Given the description of an element on the screen output the (x, y) to click on. 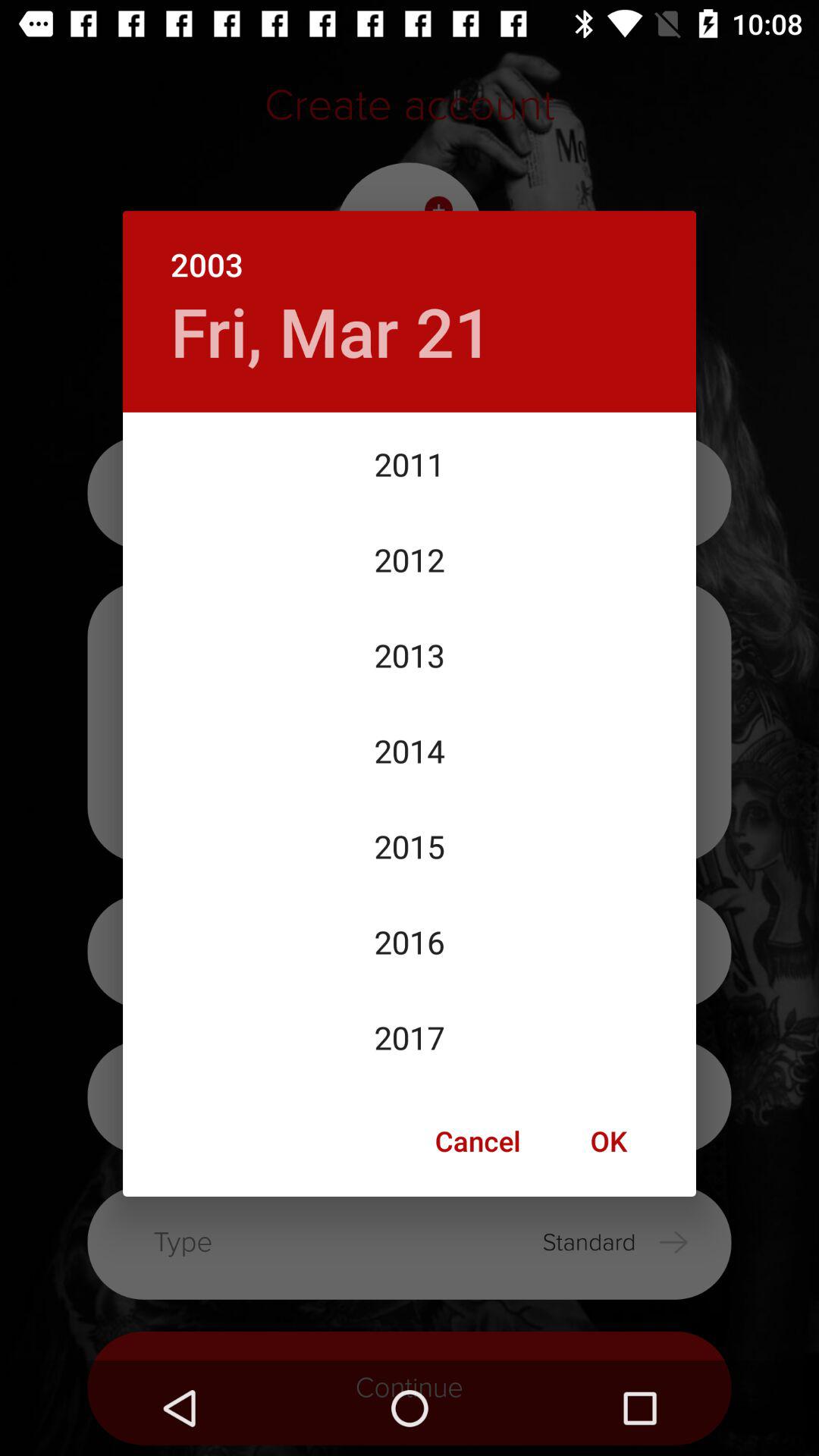
click the item below the 2017 item (608, 1140)
